Given the description of an element on the screen output the (x, y) to click on. 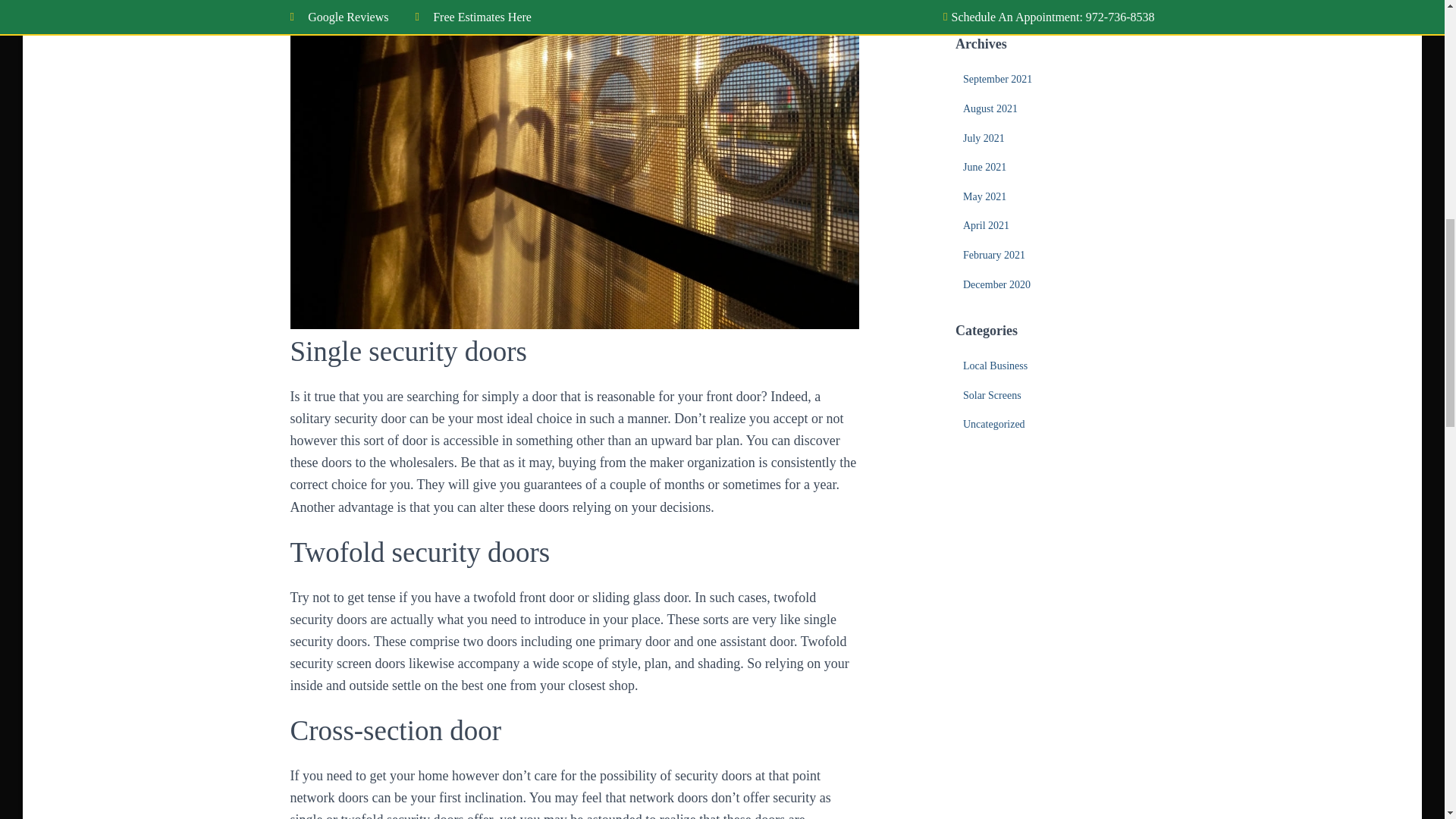
July 2021 (983, 138)
September 2021 (997, 79)
June 2021 (984, 166)
August 2021 (989, 108)
May 2021 (984, 196)
Solar Window Screen to Prevent Solar Glare and Overheating (1057, 2)
